Given the description of an element on the screen output the (x, y) to click on. 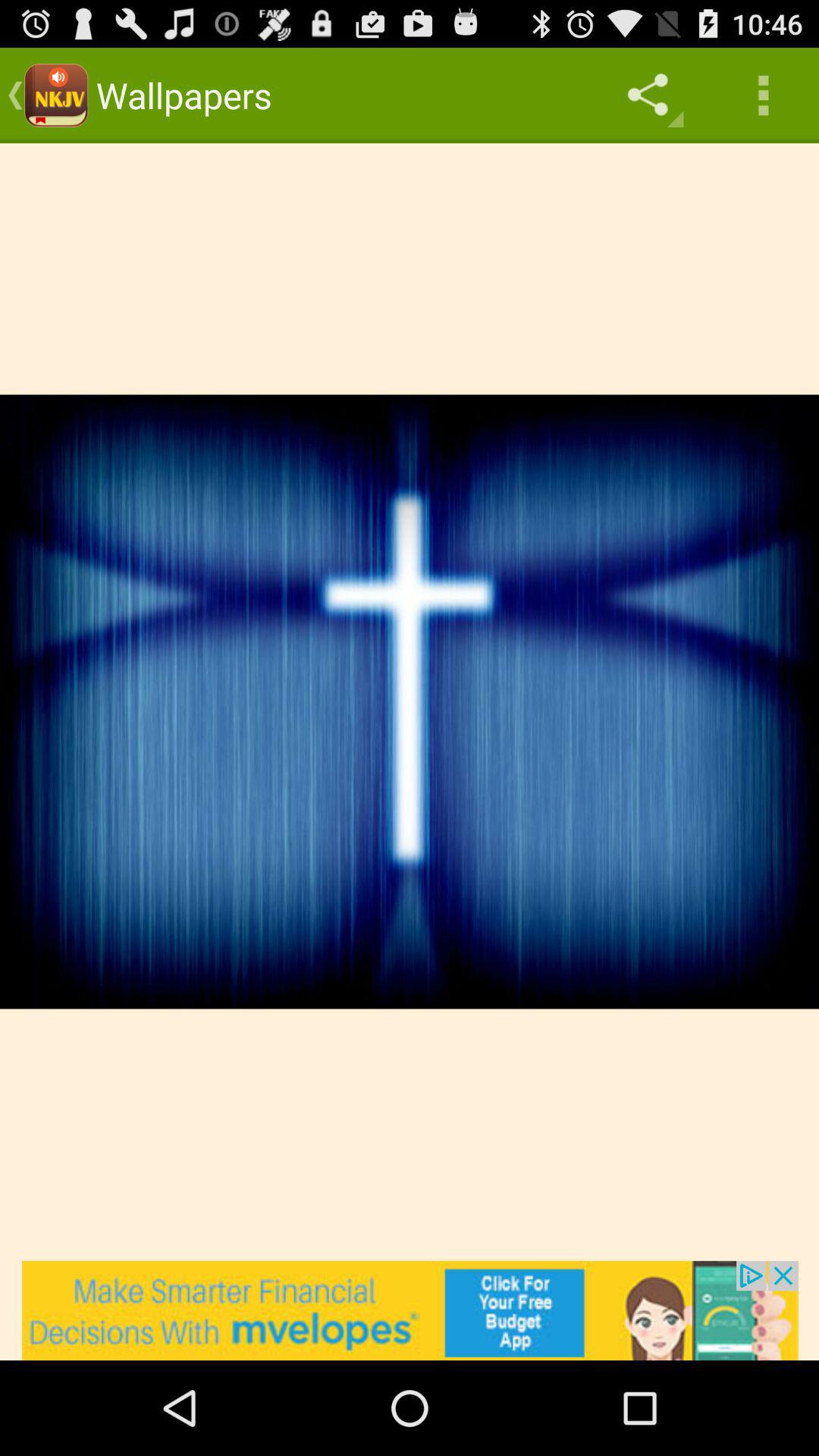
open advertisement (409, 1310)
